Given the description of an element on the screen output the (x, y) to click on. 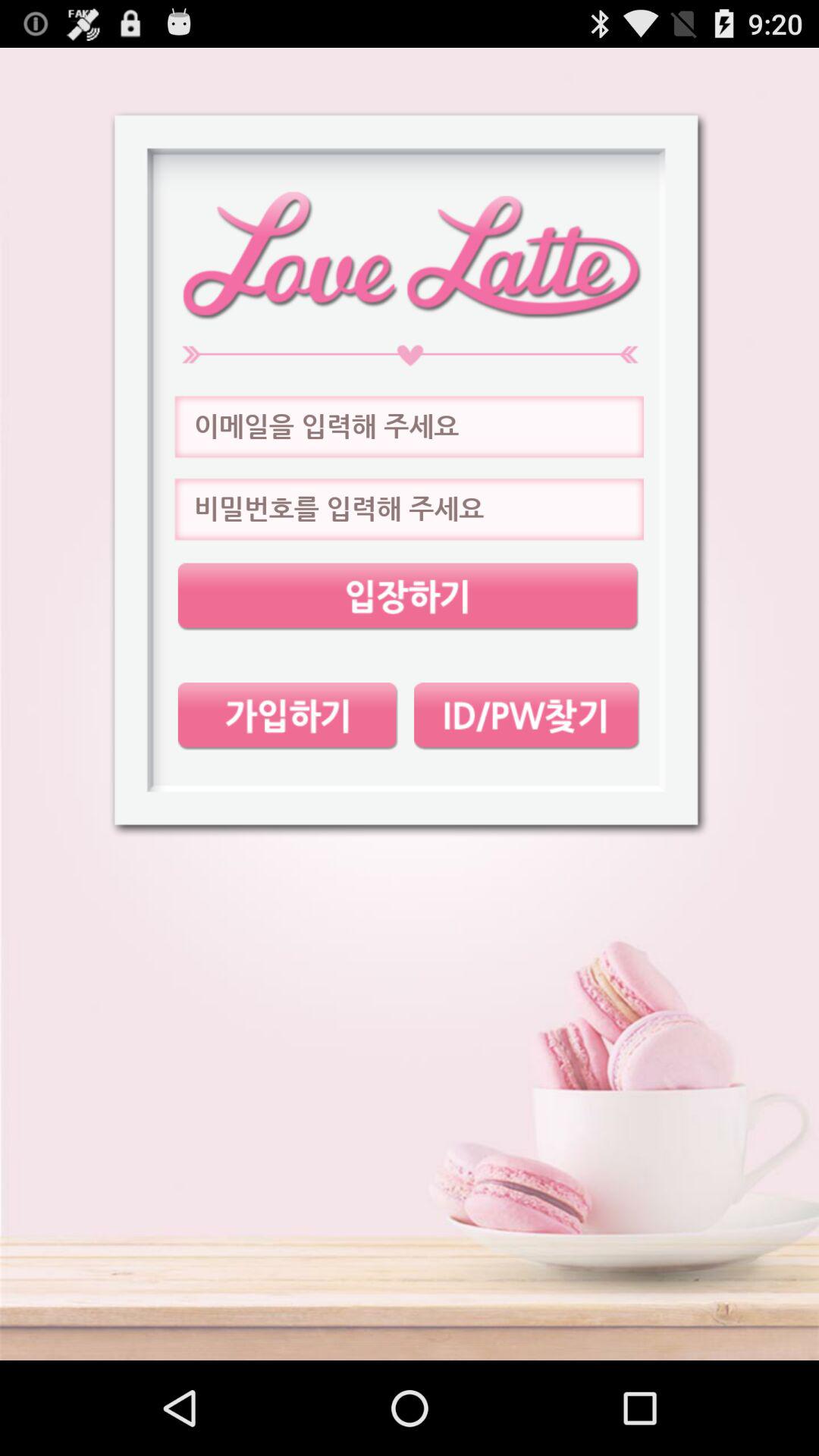
go to next (408, 426)
